Given the description of an element on the screen output the (x, y) to click on. 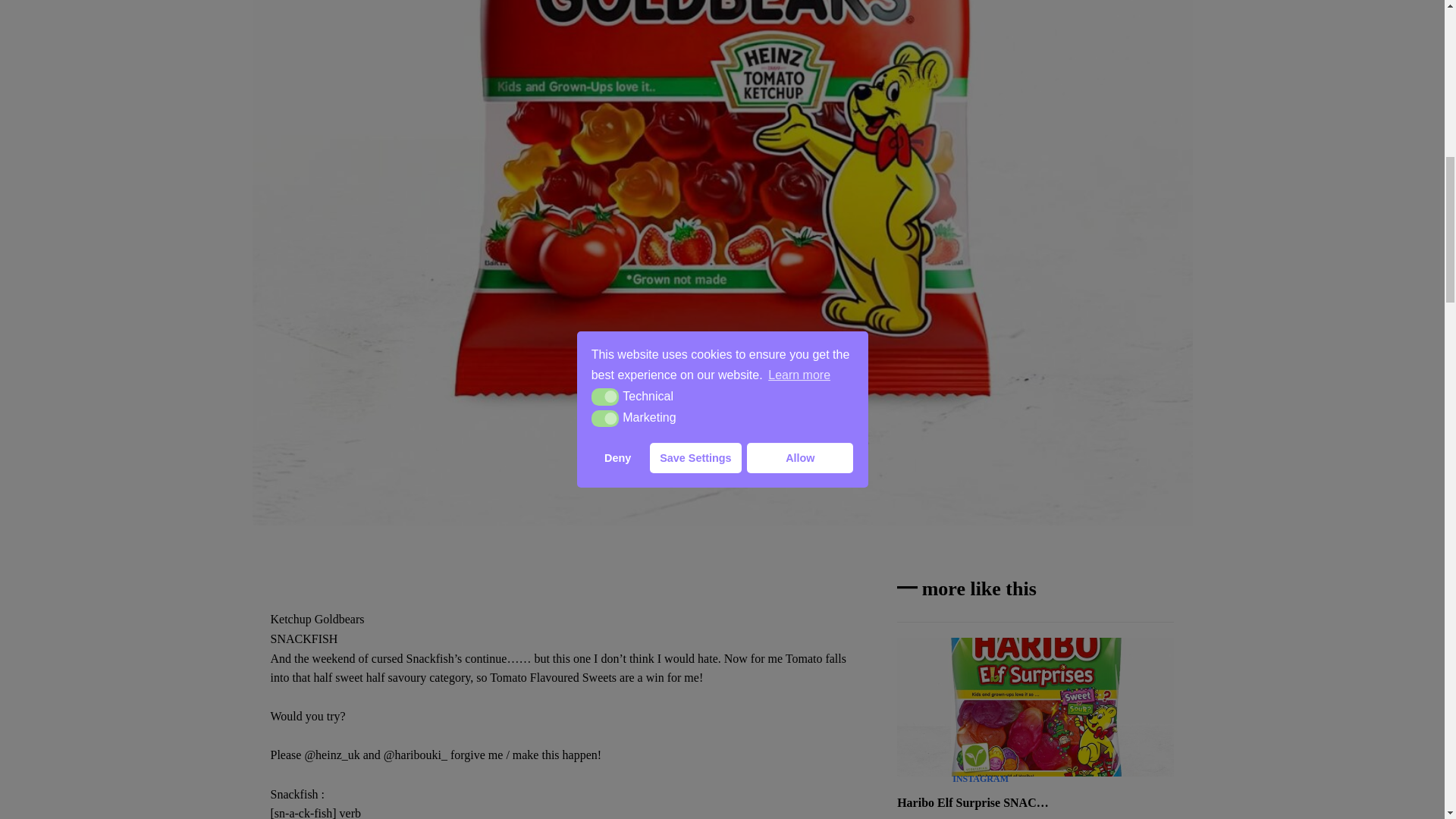
INSTAGRAM (980, 777)
